Given the description of an element on the screen output the (x, y) to click on. 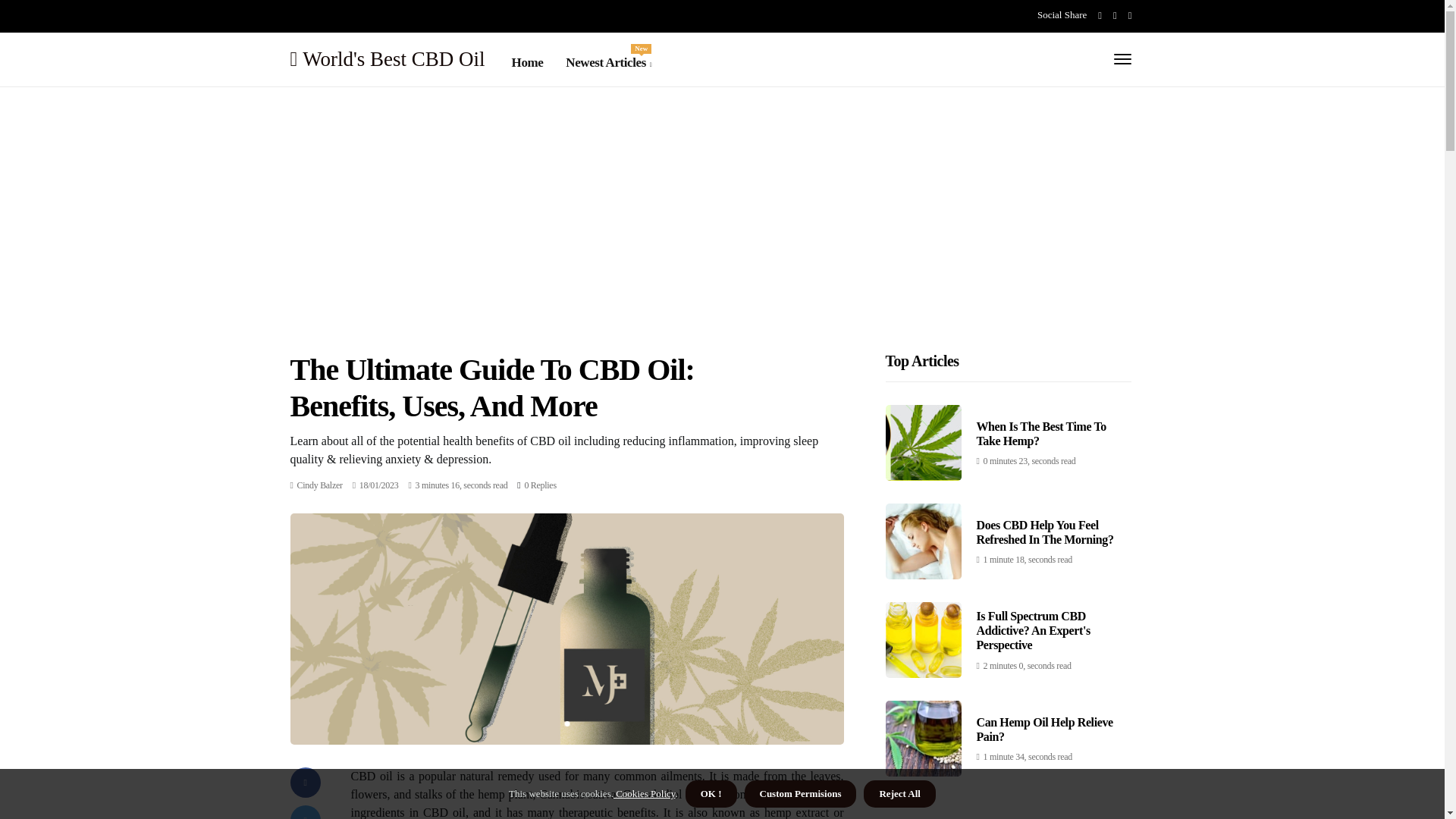
Cindy Balzer (319, 484)
Posts by Cindy Balzer (319, 484)
0 Replies (540, 484)
1 (608, 62)
